Given the description of an element on the screen output the (x, y) to click on. 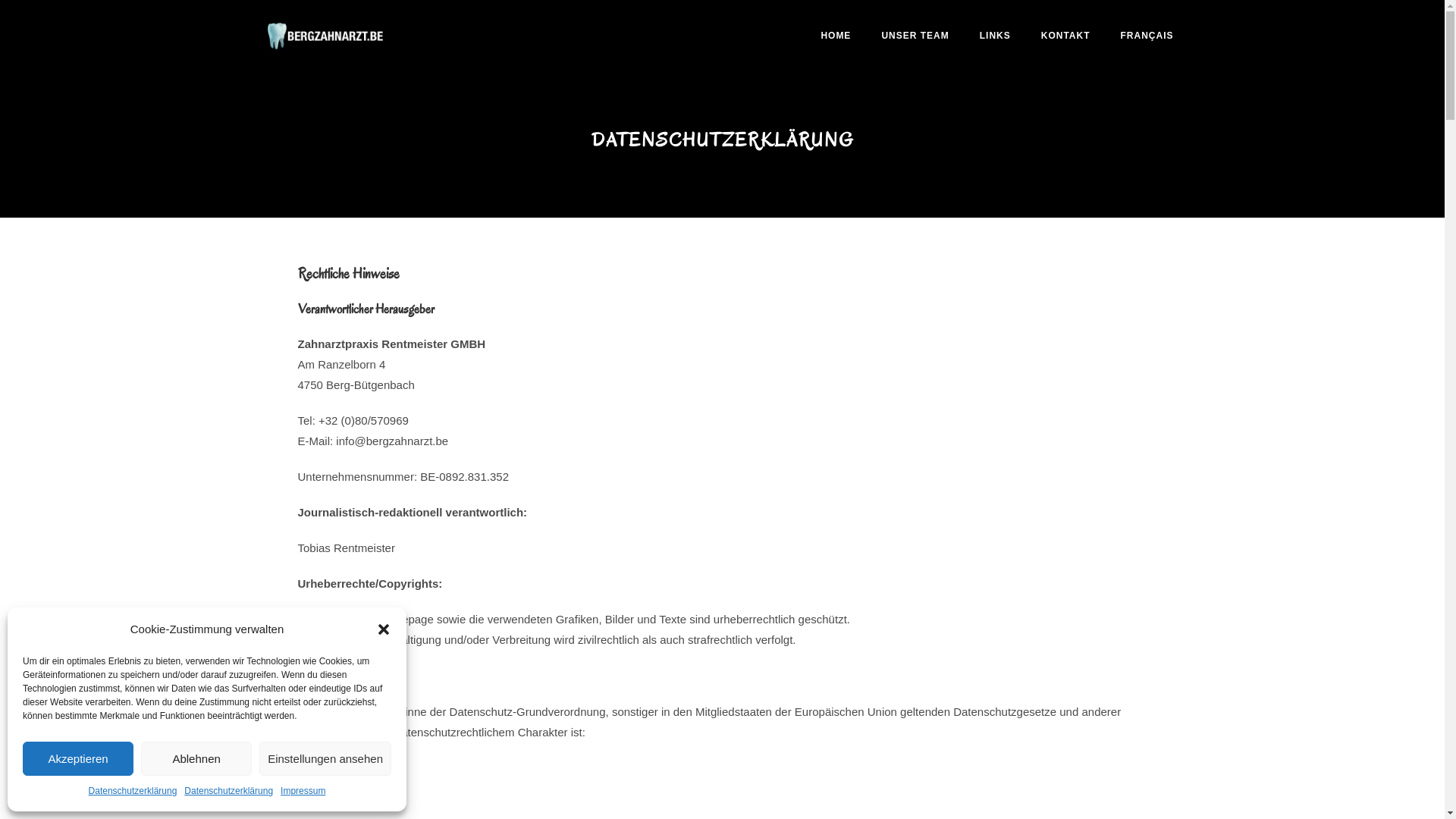
Einstellungen ansehen Element type: text (325, 758)
Impressum Element type: text (302, 791)
HOME Element type: text (835, 35)
Ablehnen Element type: text (196, 758)
KONTAKT Element type: text (1065, 35)
UNSER TEAM Element type: text (914, 35)
LINKS Element type: text (995, 35)
Akzeptieren Element type: text (77, 758)
